Given the description of an element on the screen output the (x, y) to click on. 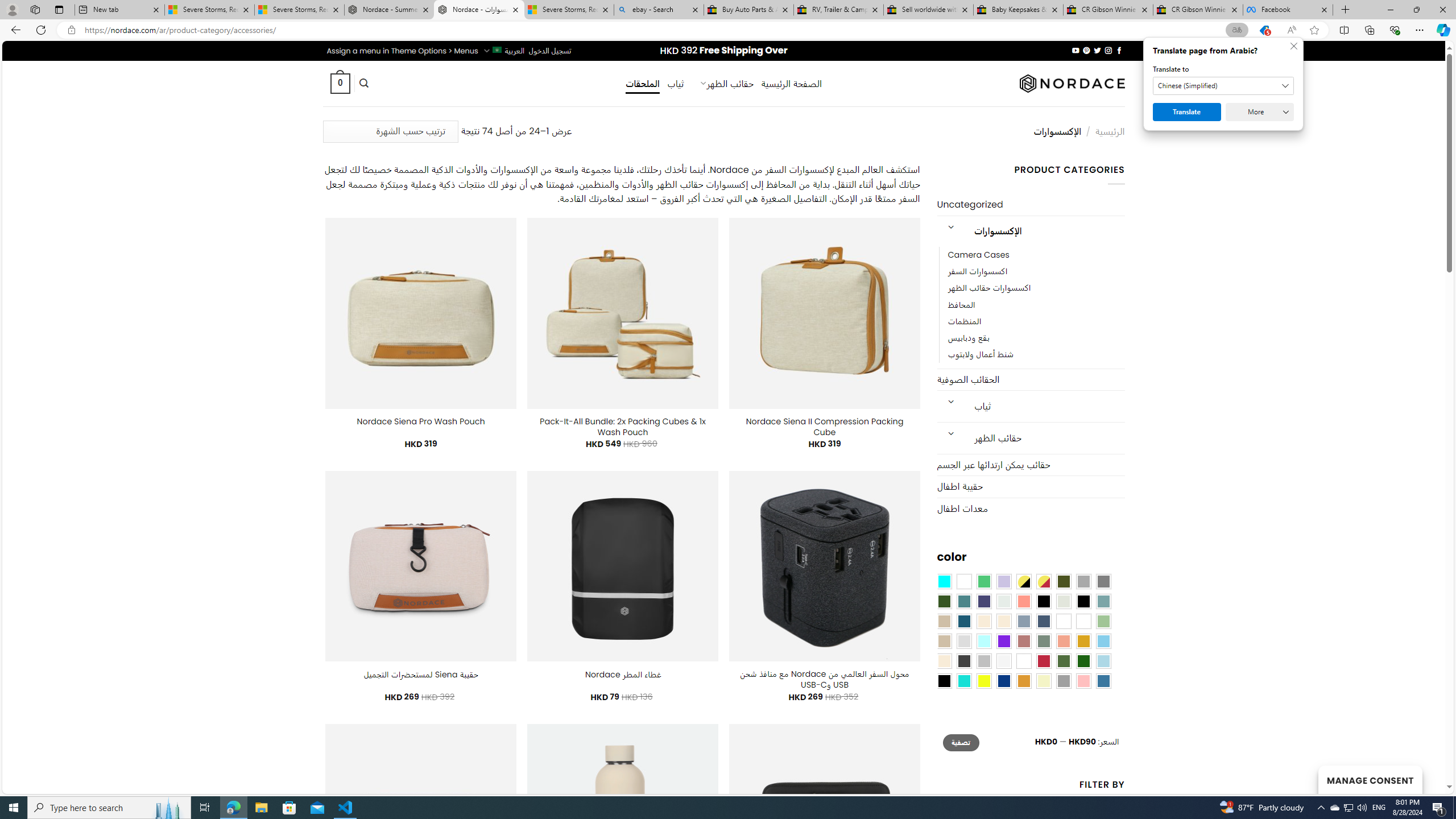
Forest (944, 601)
Mint (983, 640)
Brownie (944, 621)
Teal (963, 601)
